Given the description of an element on the screen output the (x, y) to click on. 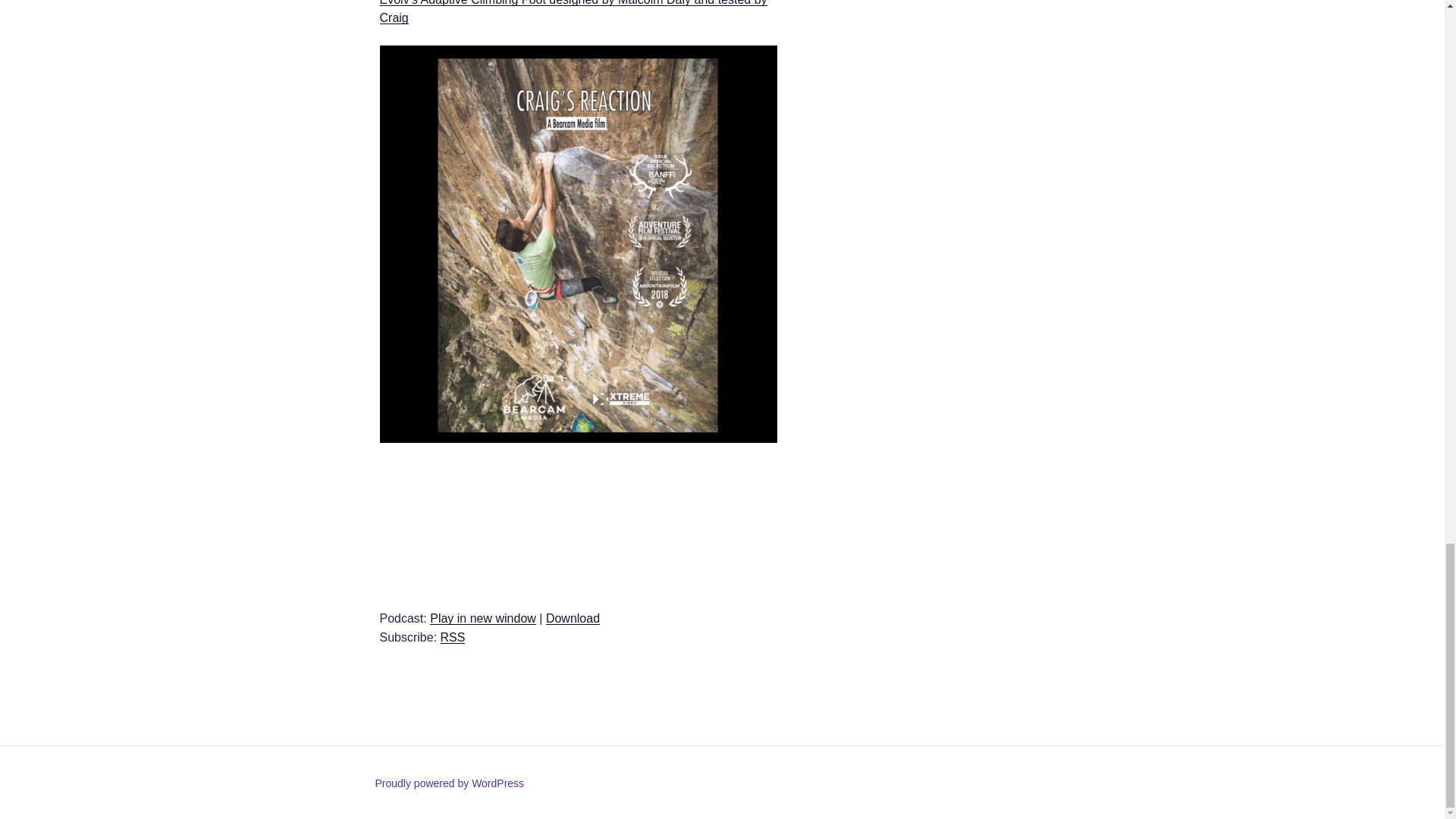
Blubrry Podcast Player (577, 523)
Play in new window (482, 617)
Download (572, 617)
Subscribe via RSS (453, 636)
